Given the description of an element on the screen output the (x, y) to click on. 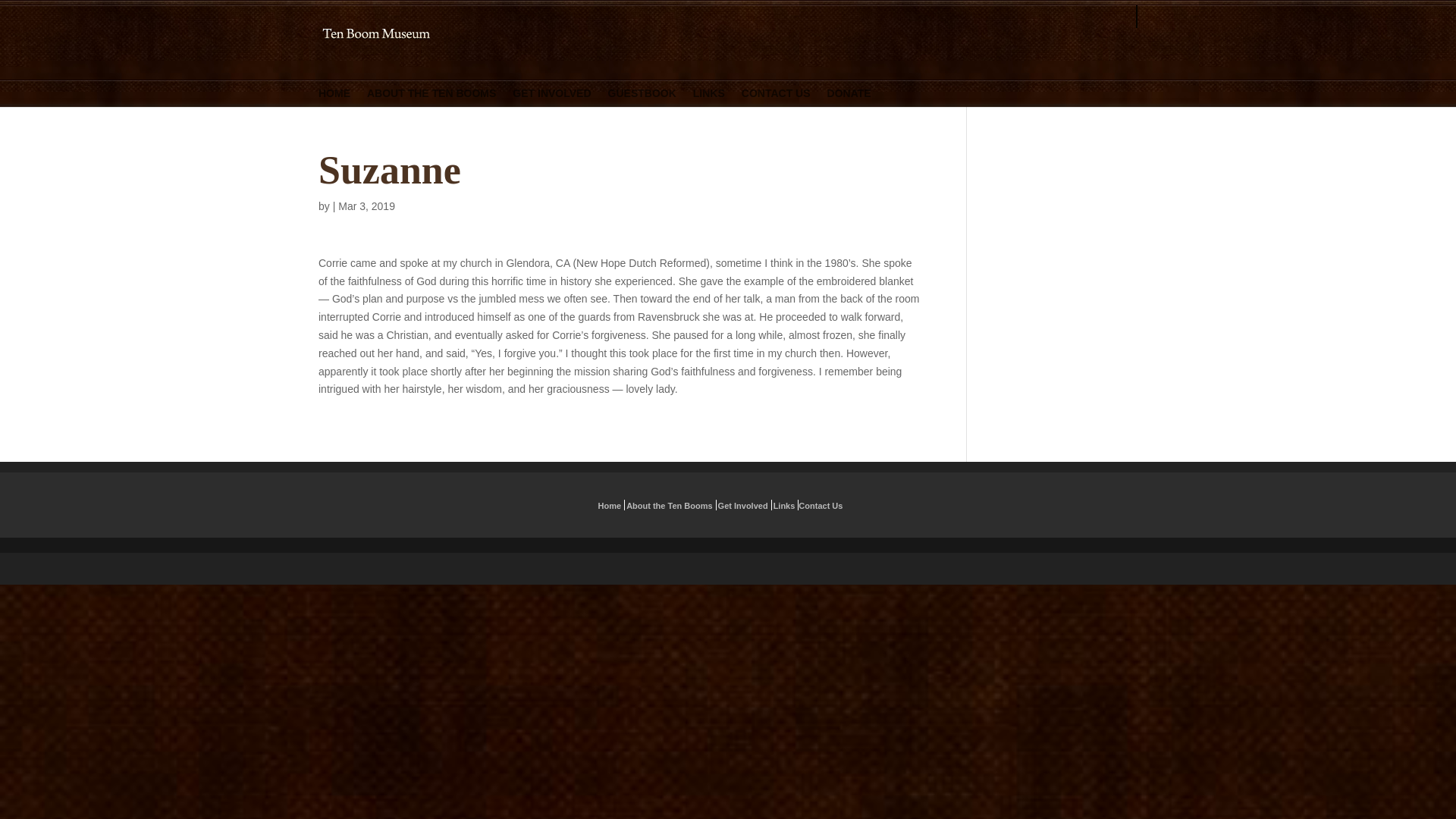
GET INVOLVED (551, 105)
GUESTBOOK (642, 105)
Get Involved (742, 505)
Contact Us (820, 505)
Home (609, 505)
About the Ten Booms (668, 505)
CONTACT US (775, 105)
Links (783, 505)
ABOUT THE TEN BOOMS (431, 105)
